Given the description of an element on the screen output the (x, y) to click on. 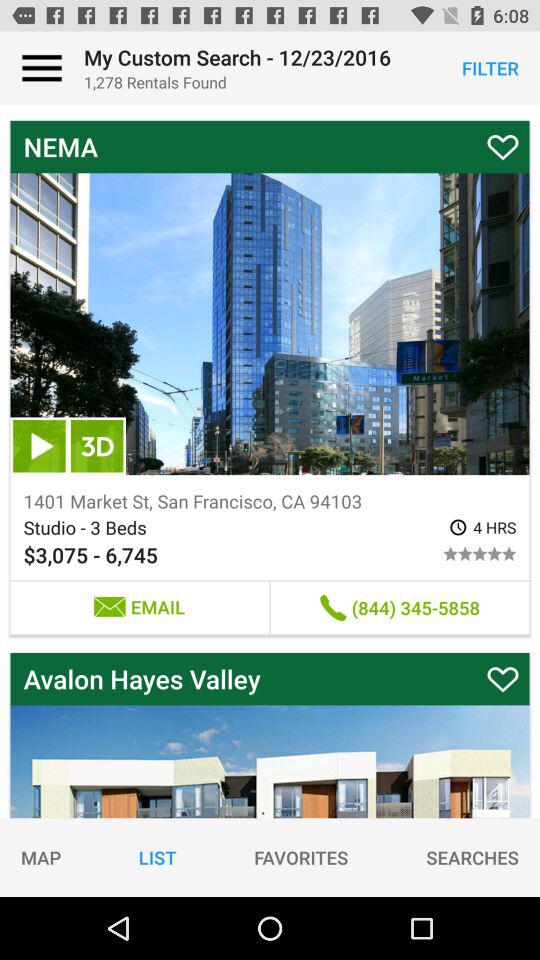
turn off item above the 1401 market st (97, 446)
